Given the description of an element on the screen output the (x, y) to click on. 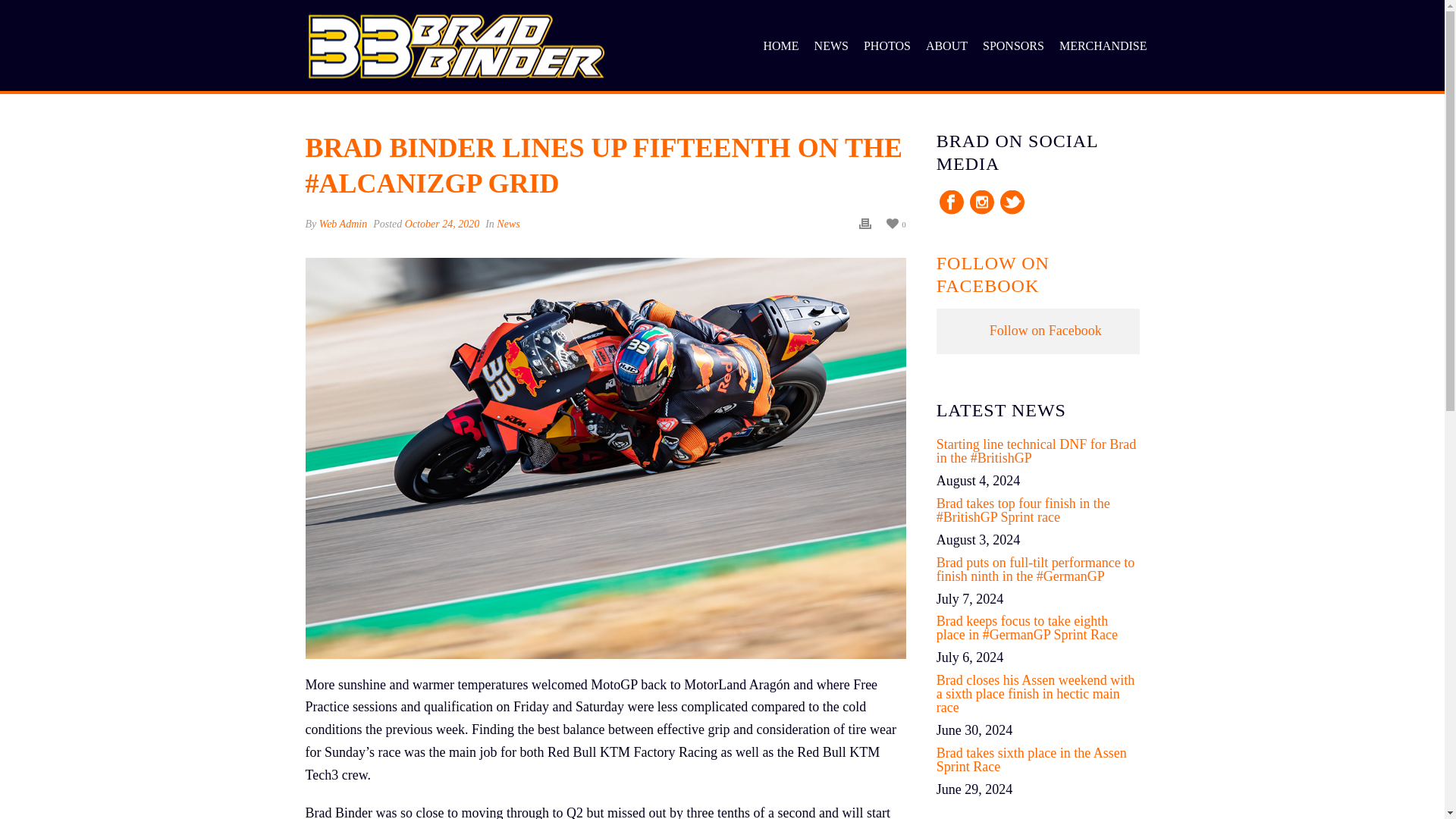
0 (895, 222)
ABOUT (946, 46)
Posts by Web Admin (342, 224)
HOME (780, 46)
October 24, 2020 (441, 224)
NEWS (831, 46)
Follow on Facebook (1046, 330)
MERCHANDISE (1102, 46)
News (507, 224)
